Given the description of an element on the screen output the (x, y) to click on. 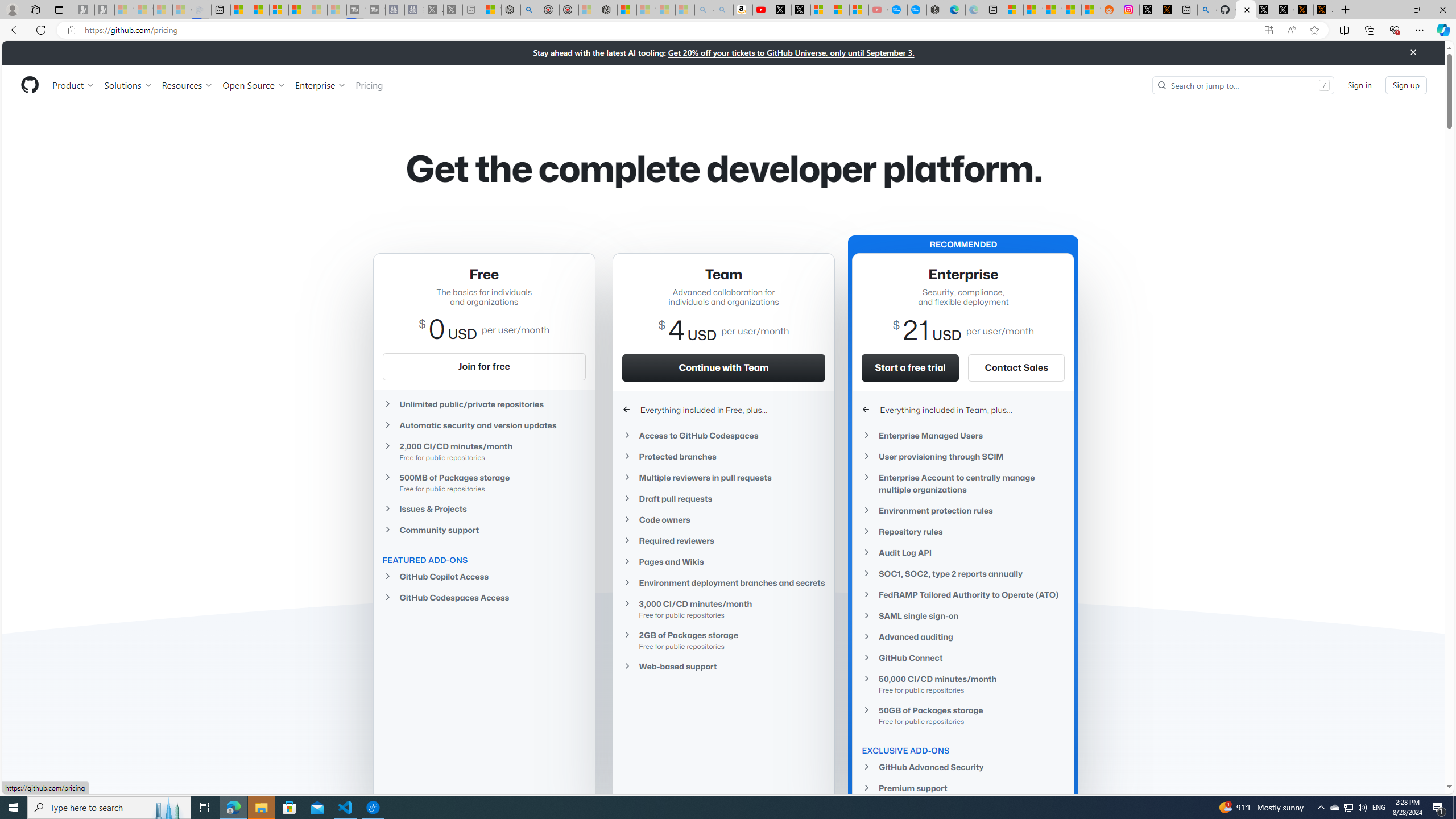
Protected branches (723, 456)
Environment protection rules (963, 510)
FedRAMP Tailored Authority to Operate (ATO) (963, 594)
Web-based support (723, 666)
GitHub Codespaces Access (483, 597)
Open Source (254, 84)
github - Search (1206, 9)
SAML single sign-on (963, 615)
Opinion: Op-Ed and Commentary - USA TODAY (897, 9)
500MB of Packages storageFree for public repositories (483, 482)
X - Sleeping (452, 9)
